Given the description of an element on the screen output the (x, y) to click on. 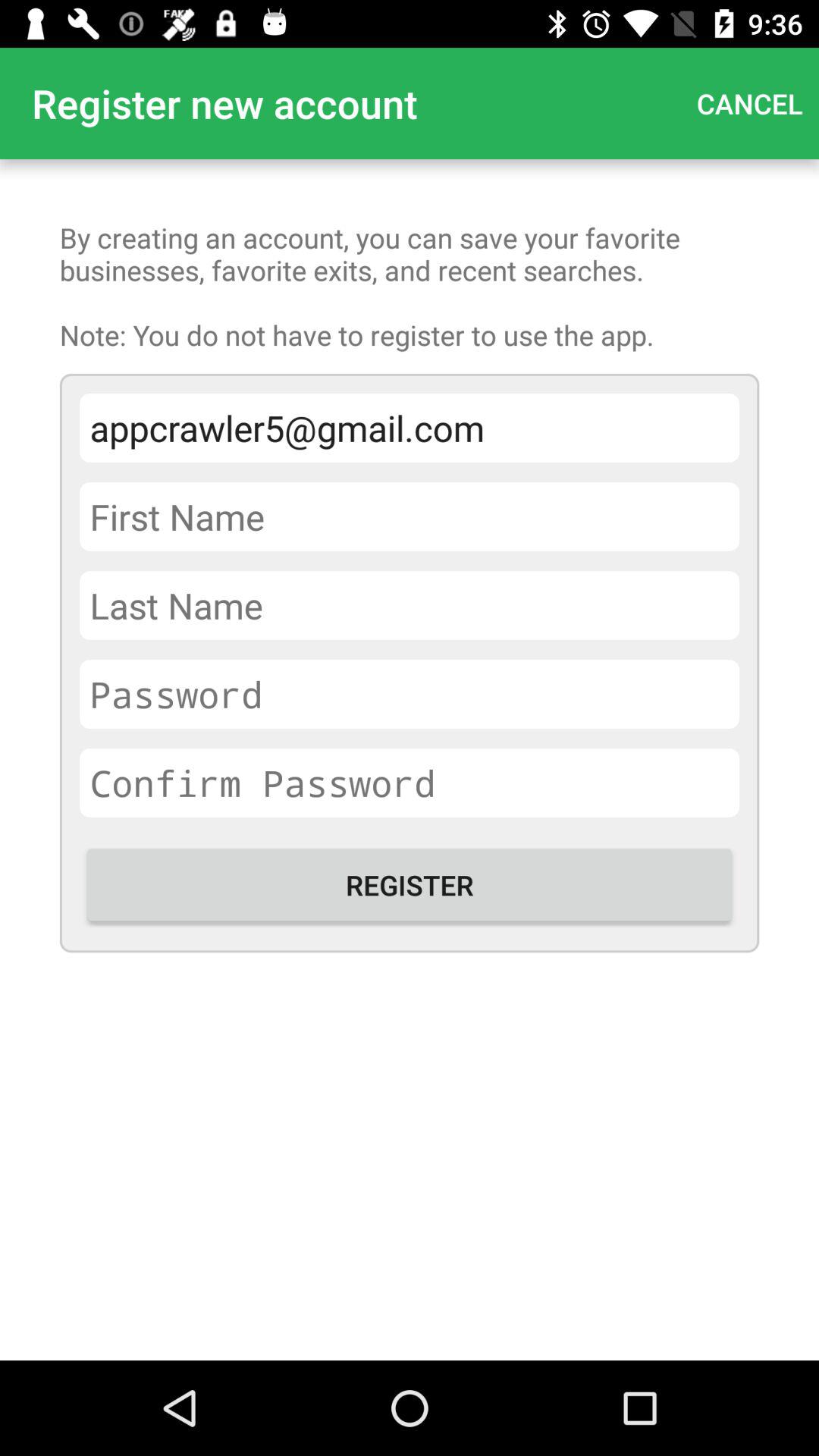
choose the cancel (749, 103)
